Given the description of an element on the screen output the (x, y) to click on. 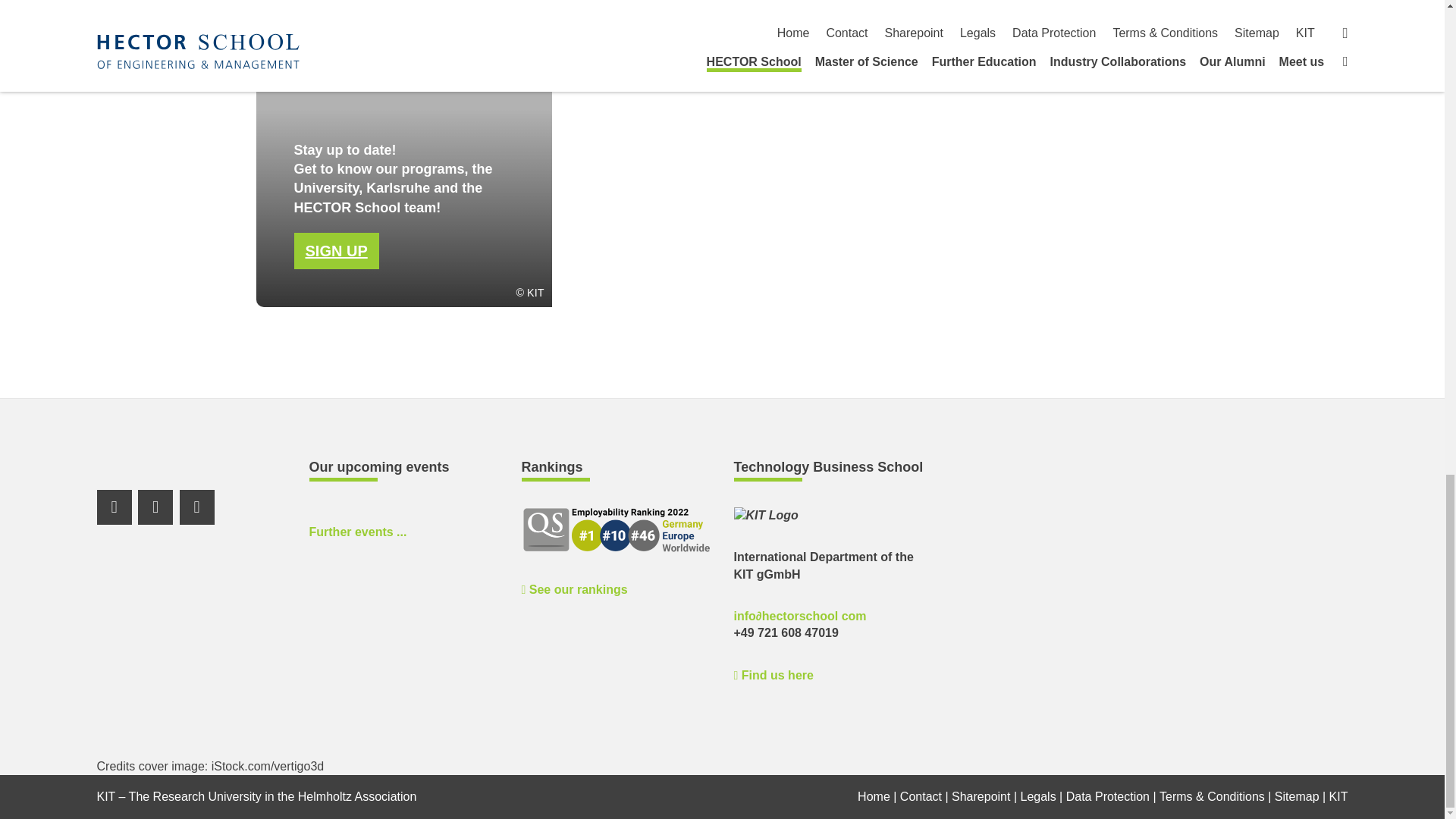
LinkedIn Profile  (114, 506)
startpage (873, 796)
Facebook Profile  (155, 506)
Youtube Profile  (196, 506)
KIT (765, 515)
